Given the description of an element on the screen output the (x, y) to click on. 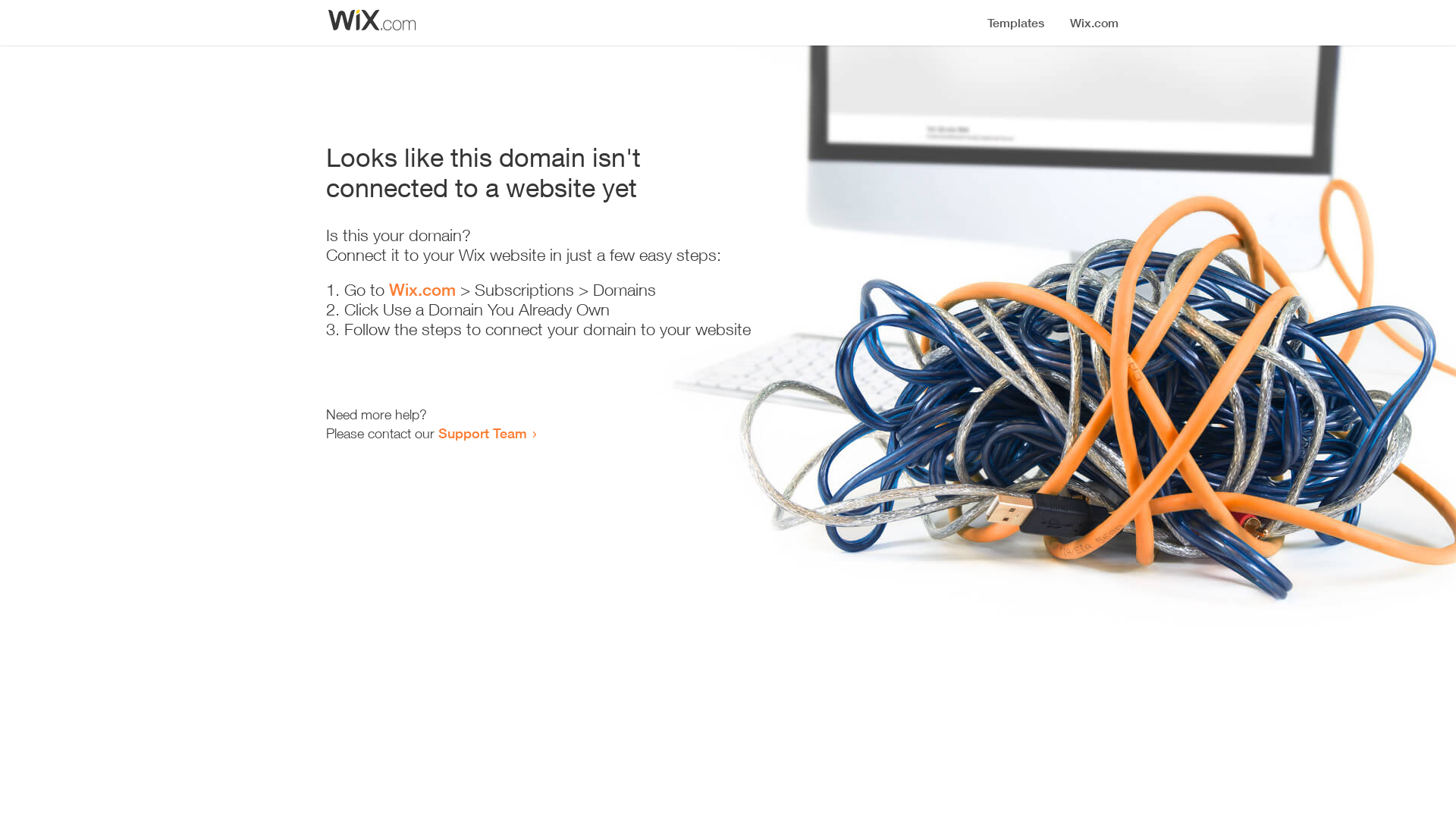
Wix.com Element type: text (422, 289)
Support Team Element type: text (482, 432)
